Given the description of an element on the screen output the (x, y) to click on. 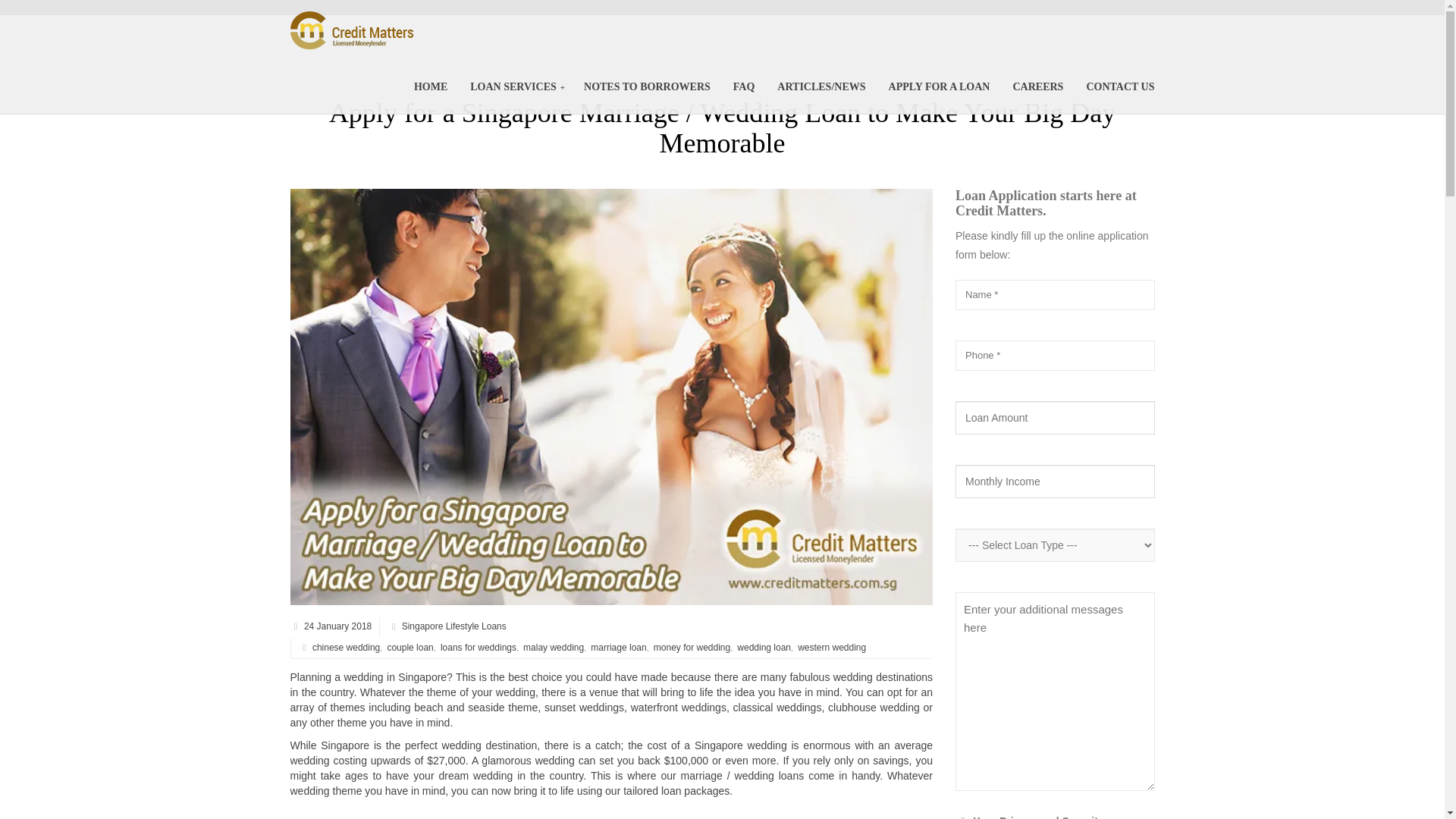
Singapore Lifestyle Loans (452, 625)
24 January 2018 (336, 625)
couple loan (408, 646)
HOME (430, 86)
wedding loan (762, 646)
NOTES TO BORROWERS (647, 86)
marriage loan (617, 646)
CAREERS (1037, 86)
CONTACT US (1120, 86)
loans for weddings (477, 646)
